Given the description of an element on the screen output the (x, y) to click on. 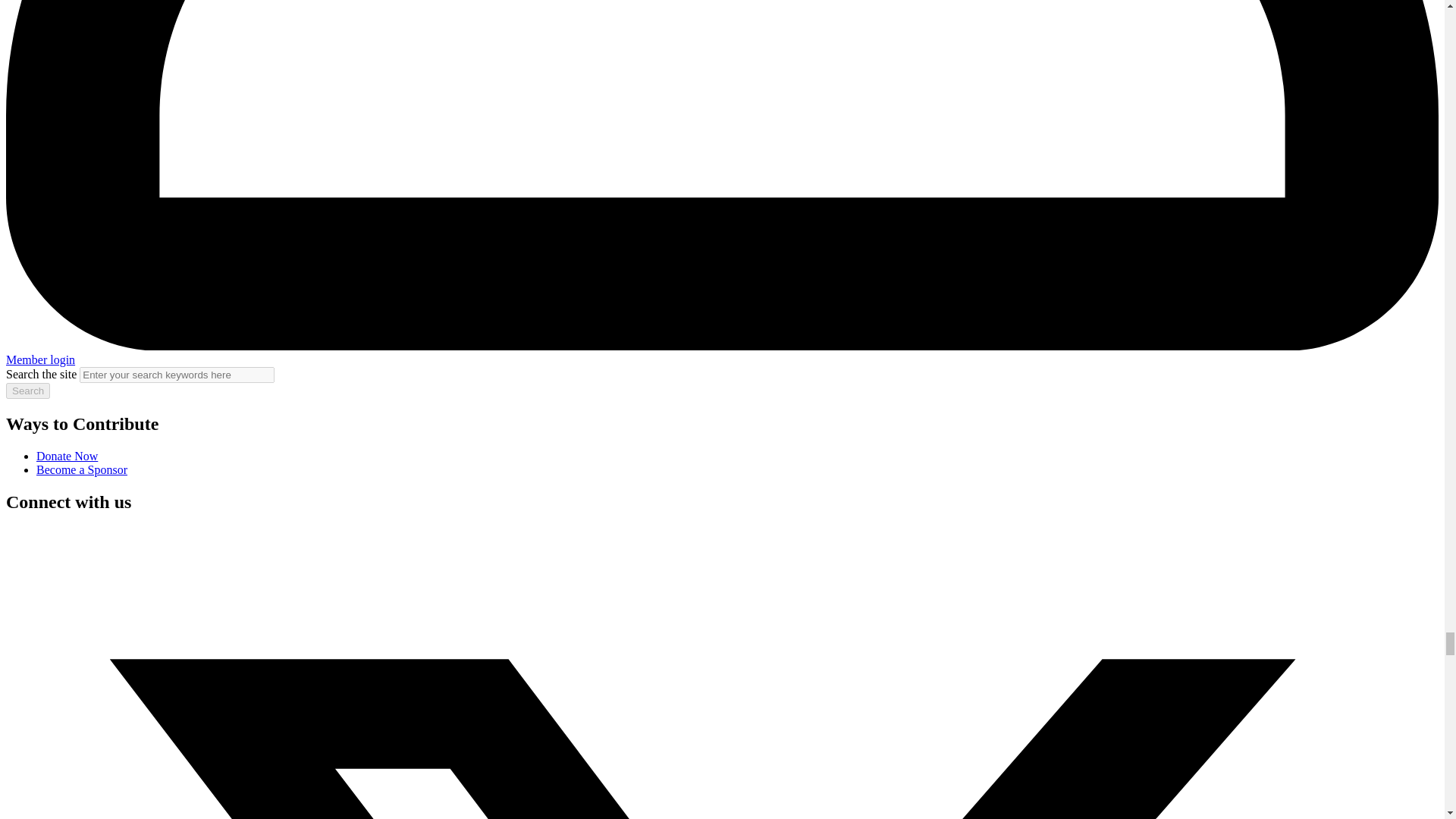
Search (27, 390)
